Given the description of an element on the screen output the (x, y) to click on. 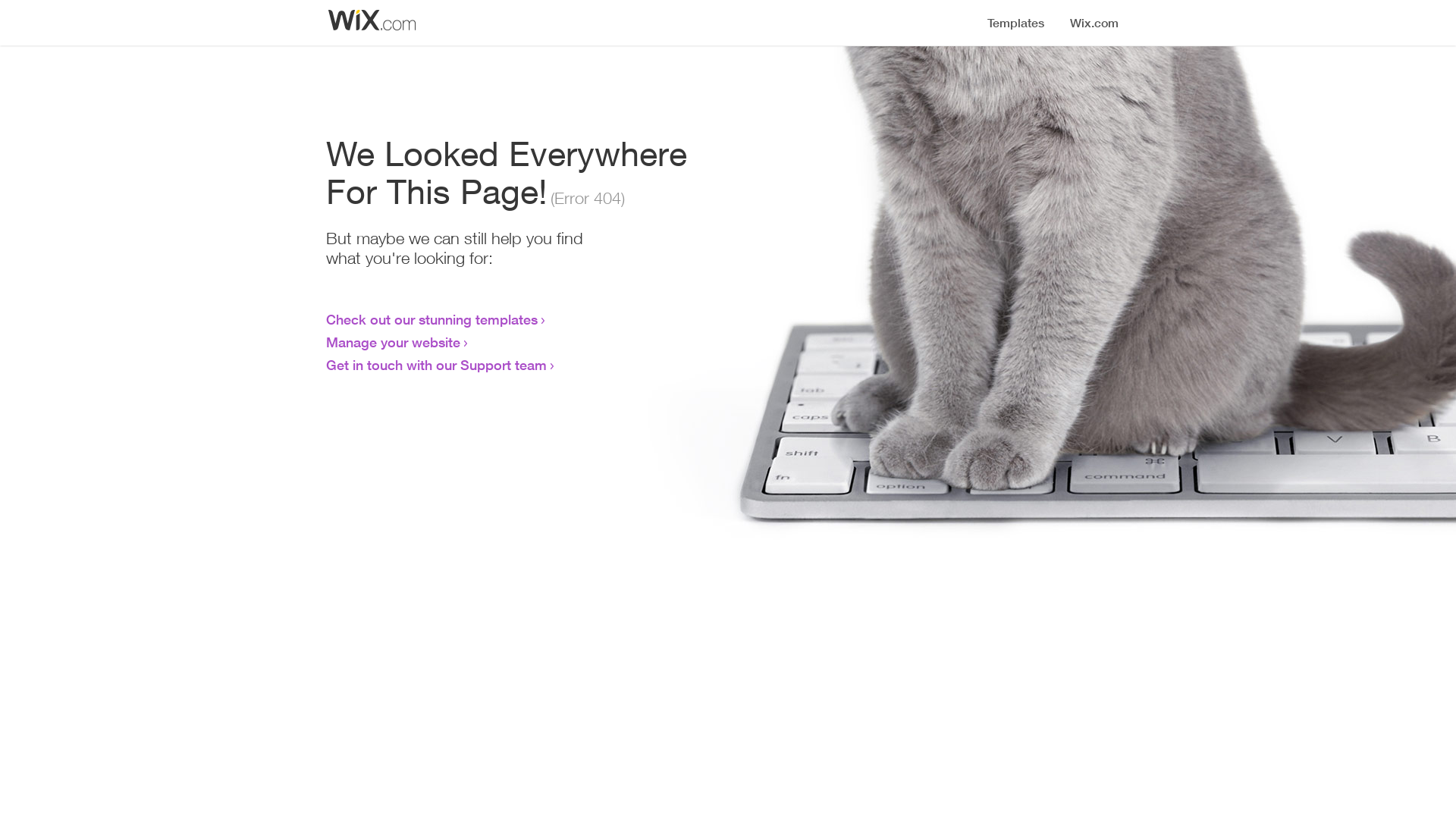
Check out our stunning templates Element type: text (431, 318)
Manage your website Element type: text (393, 341)
Get in touch with our Support team Element type: text (436, 364)
